Given the description of an element on the screen output the (x, y) to click on. 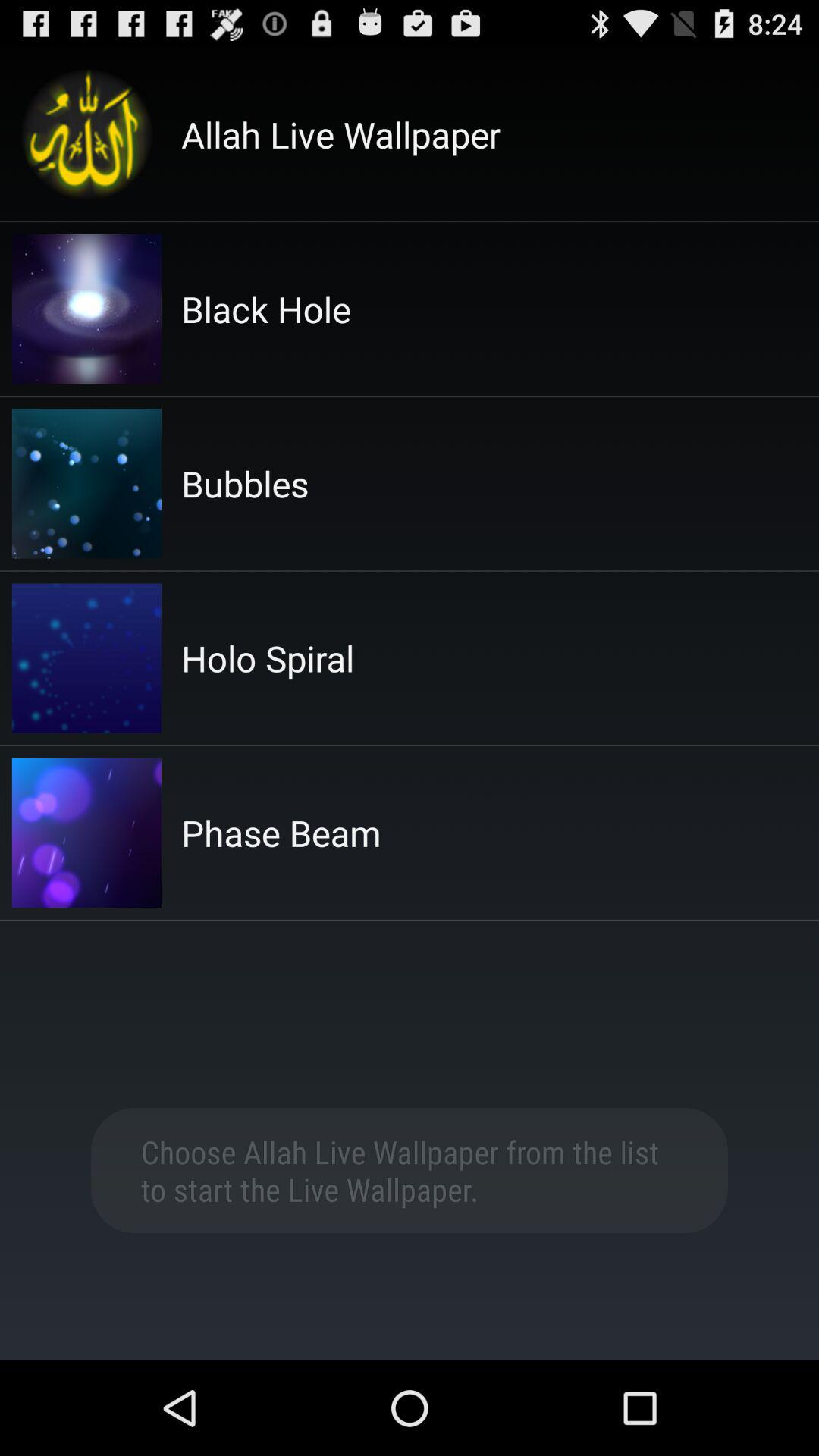
open the app below holo spiral item (281, 832)
